Given the description of an element on the screen output the (x, y) to click on. 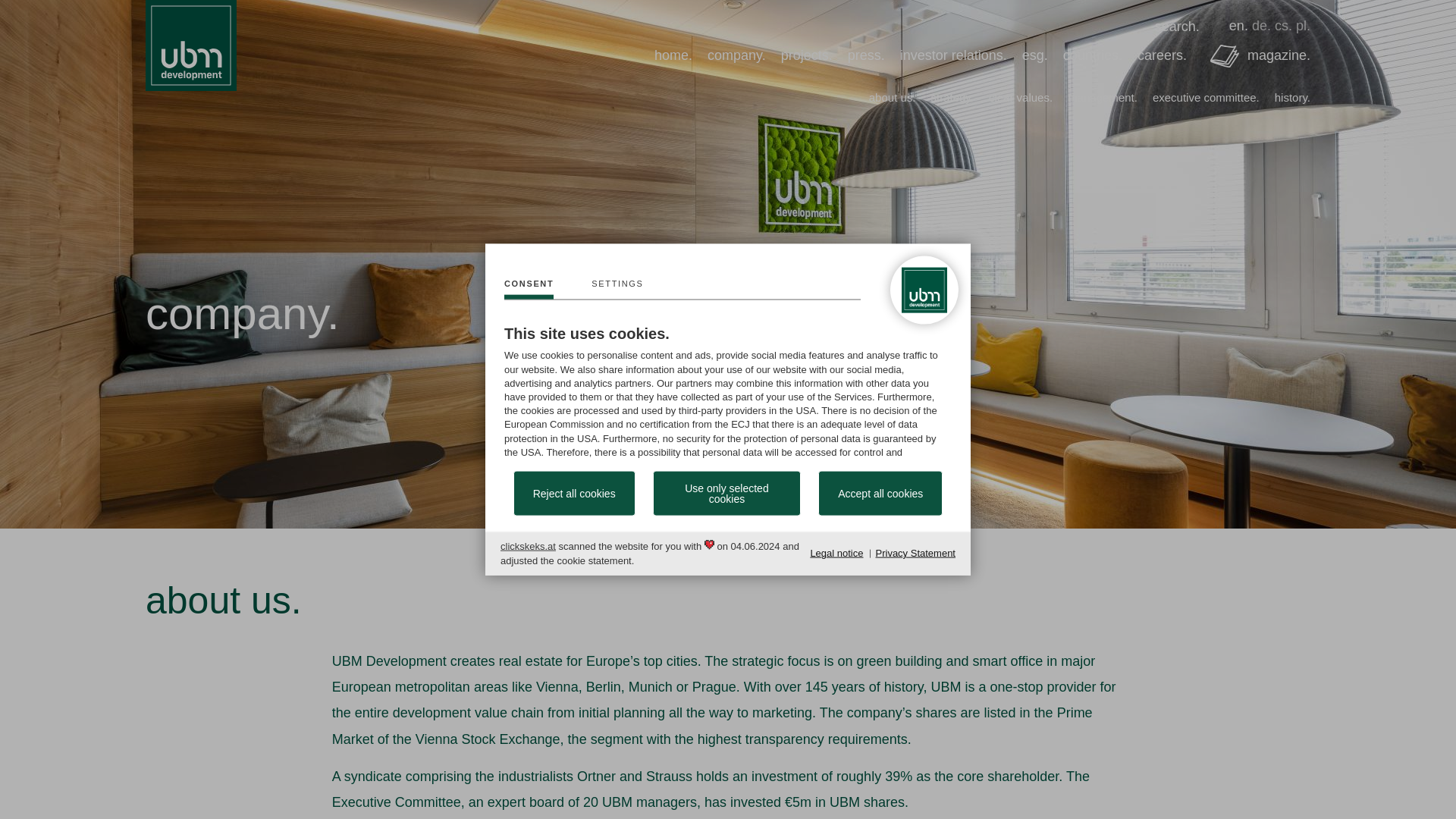
investor relations. (953, 55)
company. (736, 55)
press. (866, 55)
clickskeks.at (528, 546)
Details (617, 288)
projects. (806, 55)
home. (673, 55)
